Given the description of an element on the screen output the (x, y) to click on. 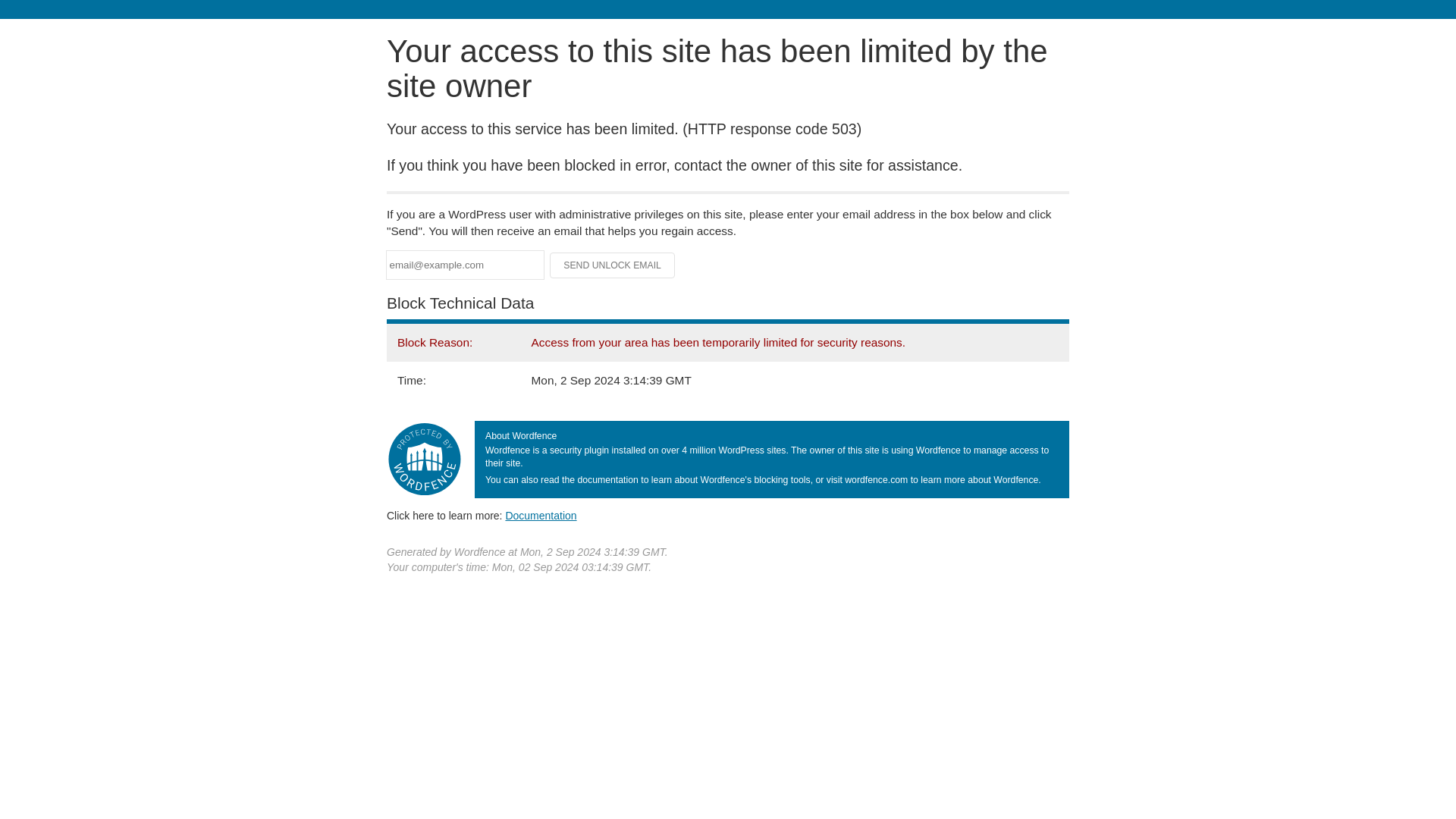
Documentation (540, 515)
Send Unlock Email (612, 265)
Send Unlock Email (612, 265)
